Given the description of an element on the screen output the (x, y) to click on. 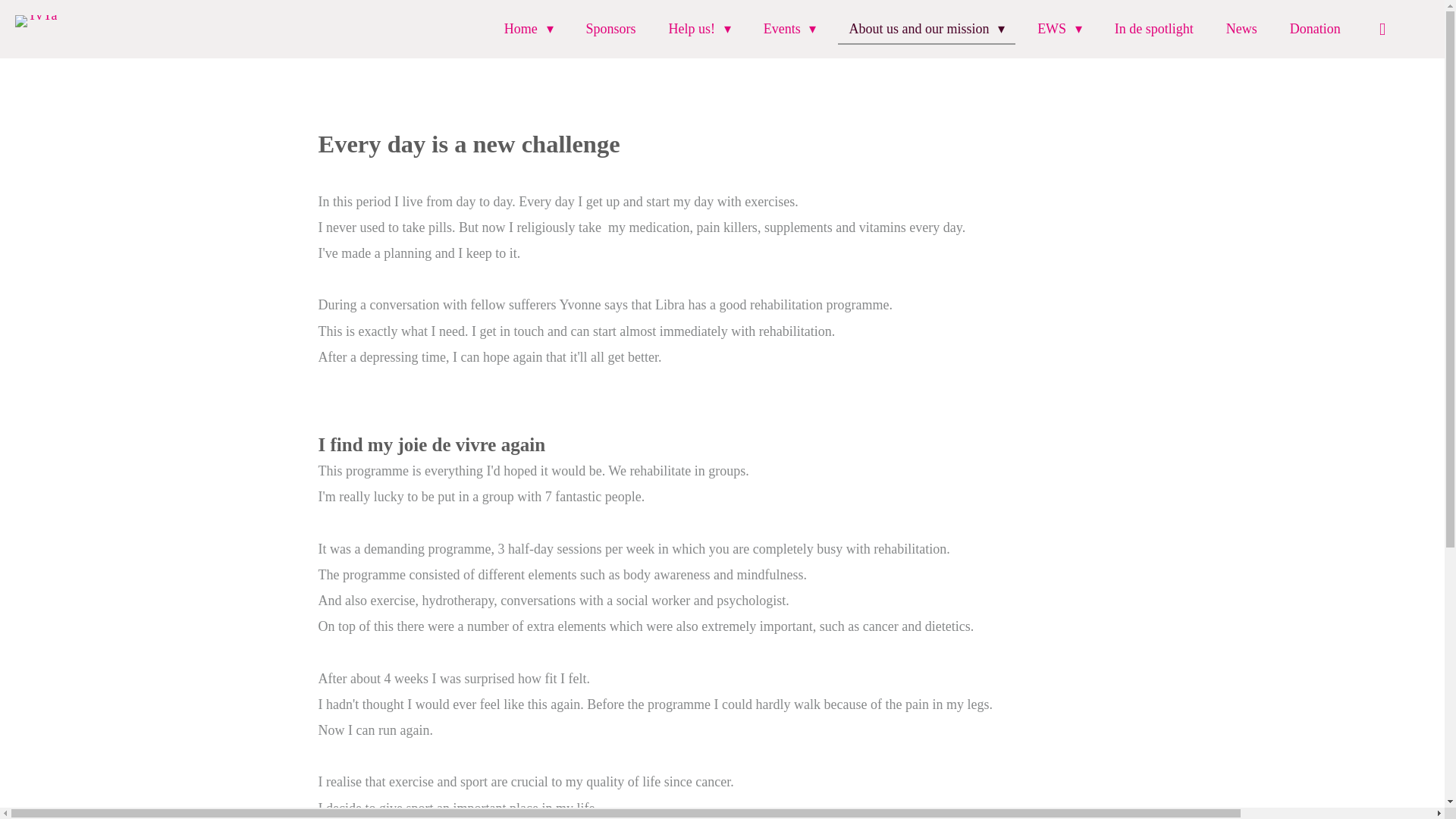
About us and our mission (926, 29)
YvYa (35, 25)
Help us! (699, 29)
Sponsors (610, 29)
Events (789, 29)
Search (1382, 29)
Home (528, 29)
